Given the description of an element on the screen output the (x, y) to click on. 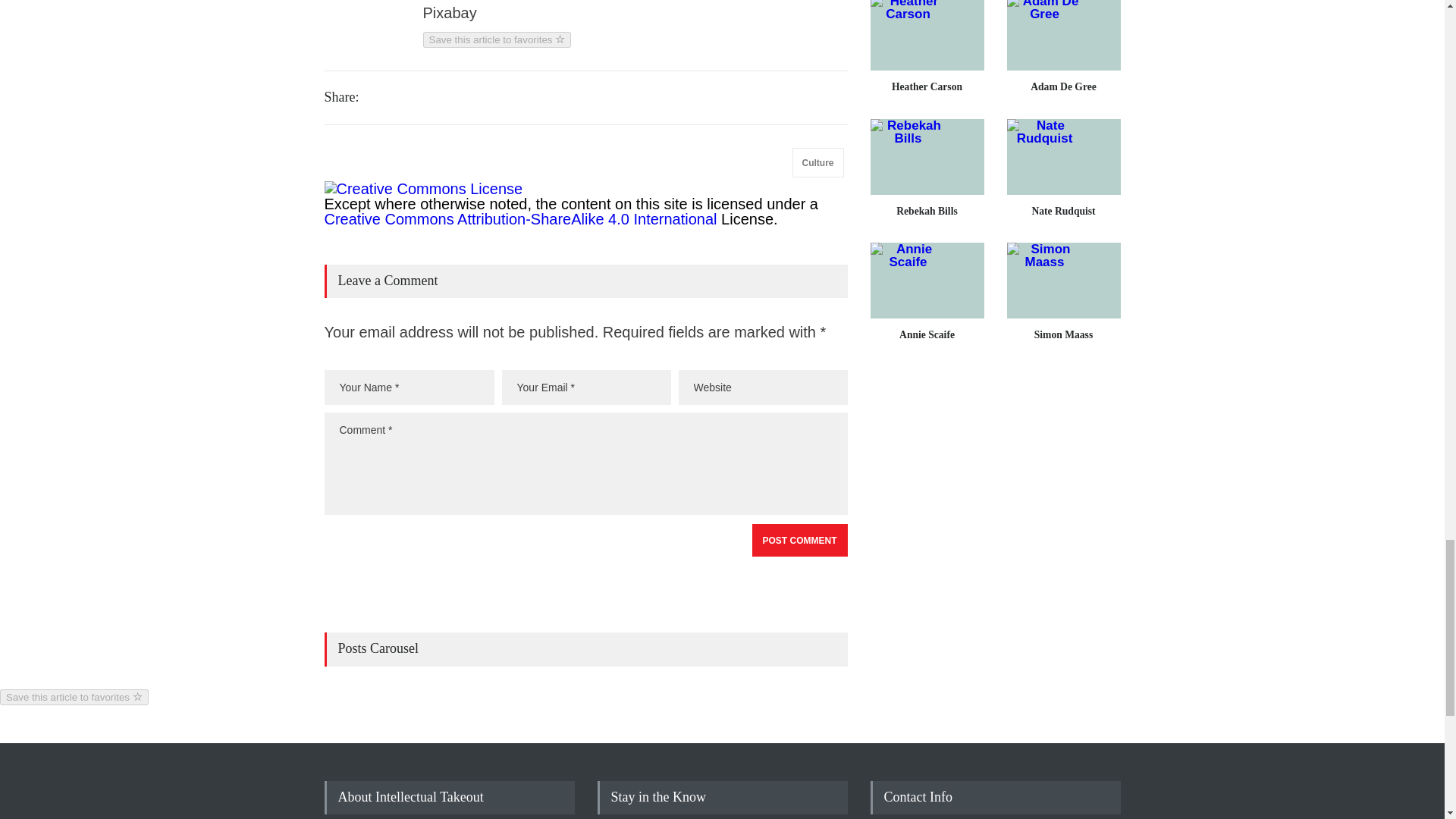
Website (762, 387)
POST COMMENT (799, 540)
